Given the description of an element on the screen output the (x, y) to click on. 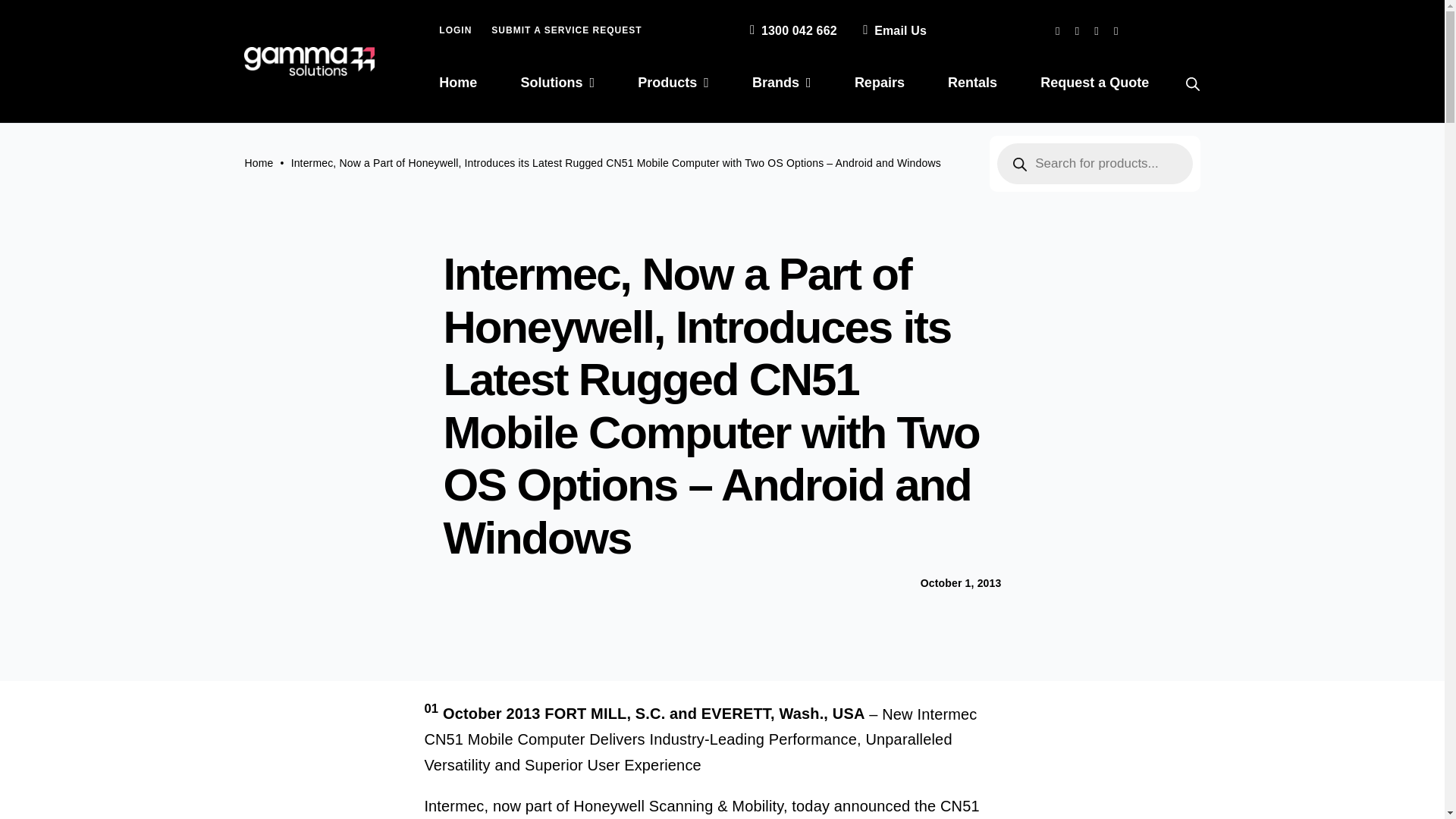
Solutions (557, 83)
1300 042 662 (790, 30)
Email Us (891, 30)
Home (457, 83)
LOGIN (454, 30)
SUBMIT A SERVICE REQUEST (566, 30)
Products (673, 83)
